Given the description of an element on the screen output the (x, y) to click on. 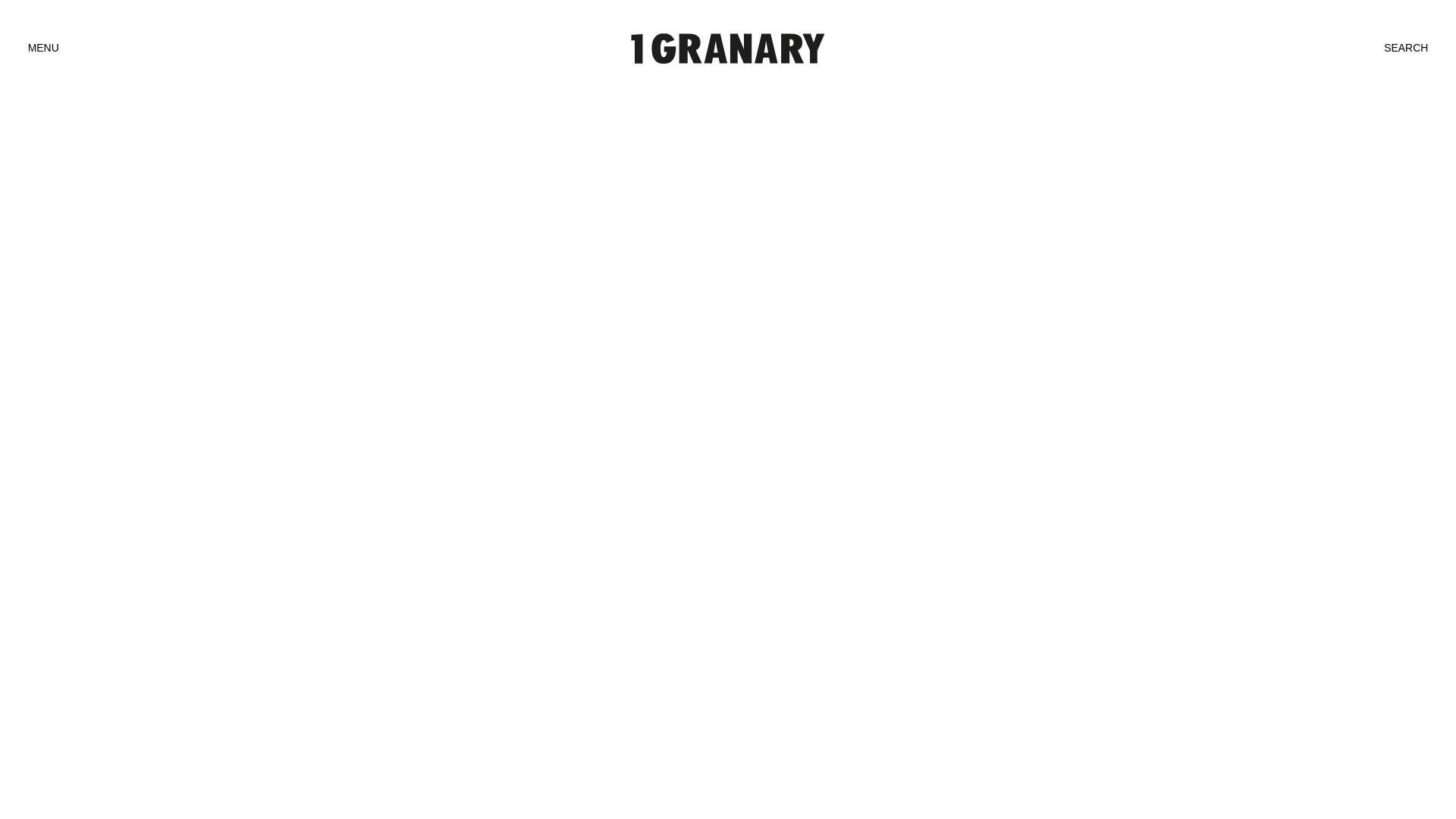
MENU Element type: text (43, 48)
SEARCH Element type: text (1405, 48)
